Given the description of an element on the screen output the (x, y) to click on. 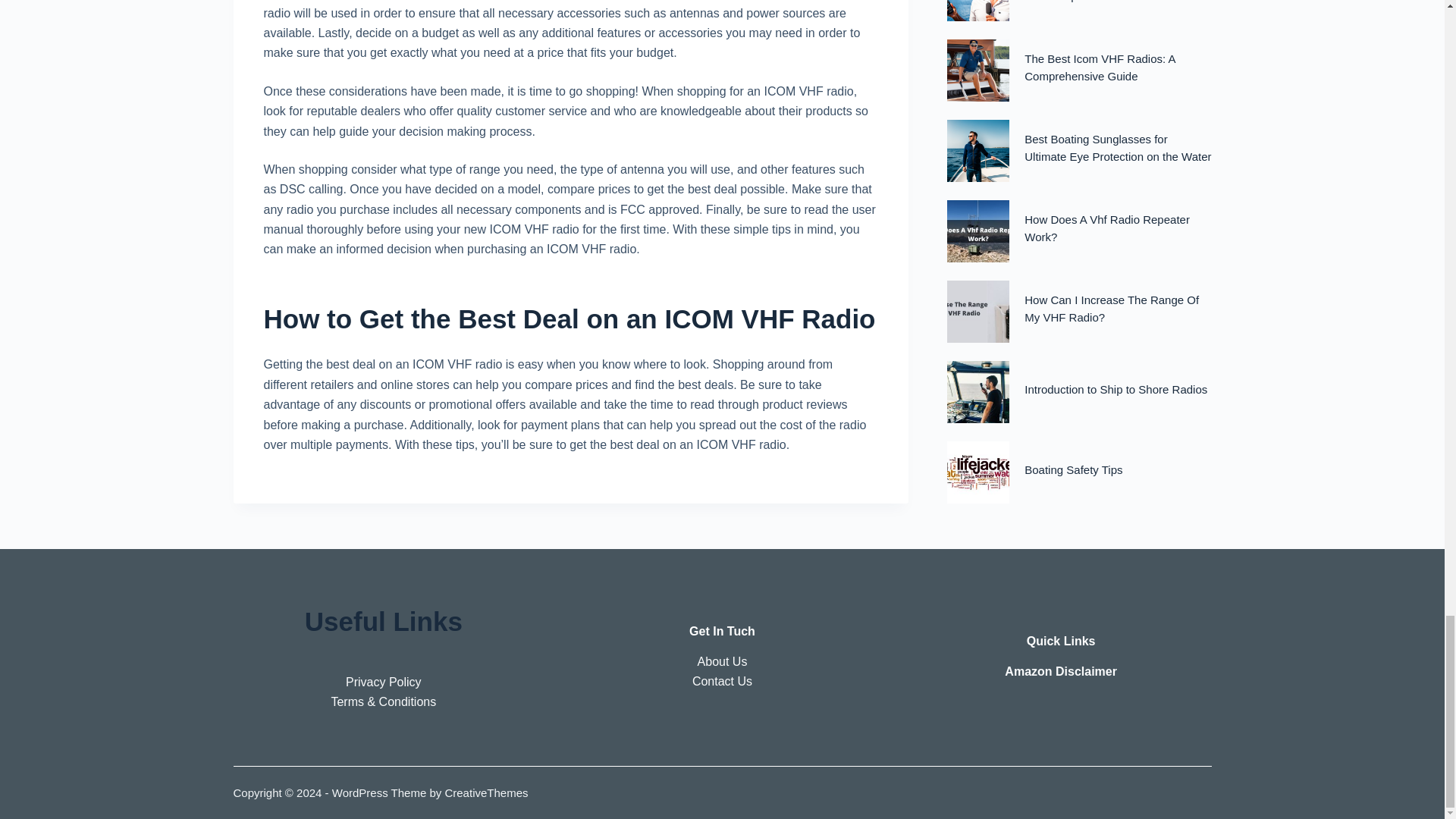
Amazon Disclaimer (1060, 671)
Contact Us (722, 680)
Privacy Policy (384, 681)
CreativeThemes (485, 792)
About Us (722, 661)
